Given the description of an element on the screen output the (x, y) to click on. 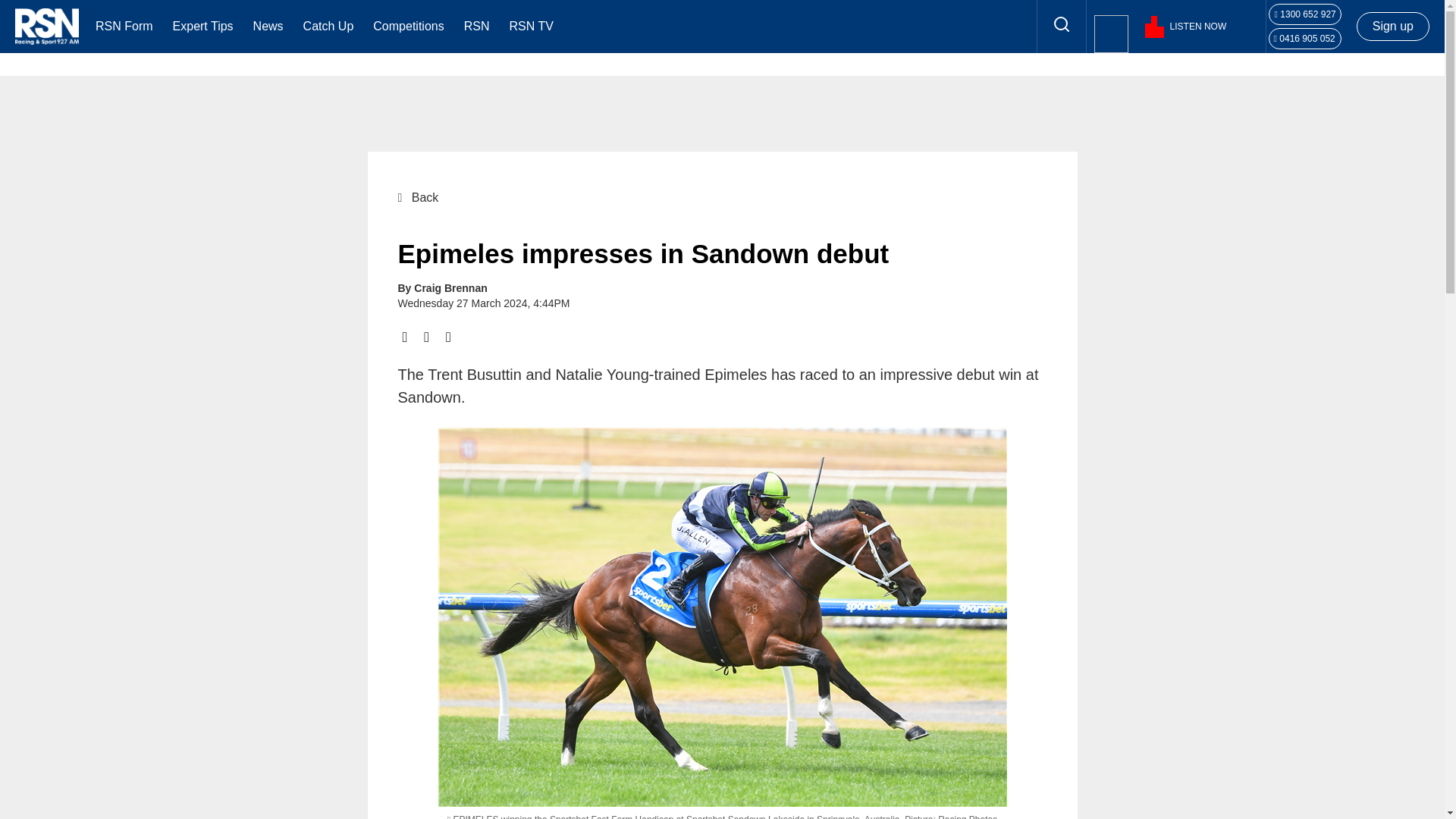
Sign up (1392, 26)
Competitions (408, 25)
Expert Tips (202, 25)
RSN (476, 25)
RSN Form (124, 25)
LISTEN NOW (1176, 26)
0416 905 052 (1304, 38)
1300 652 927 (1304, 14)
RSN TV (530, 25)
Catch Up (327, 25)
